Given the description of an element on the screen output the (x, y) to click on. 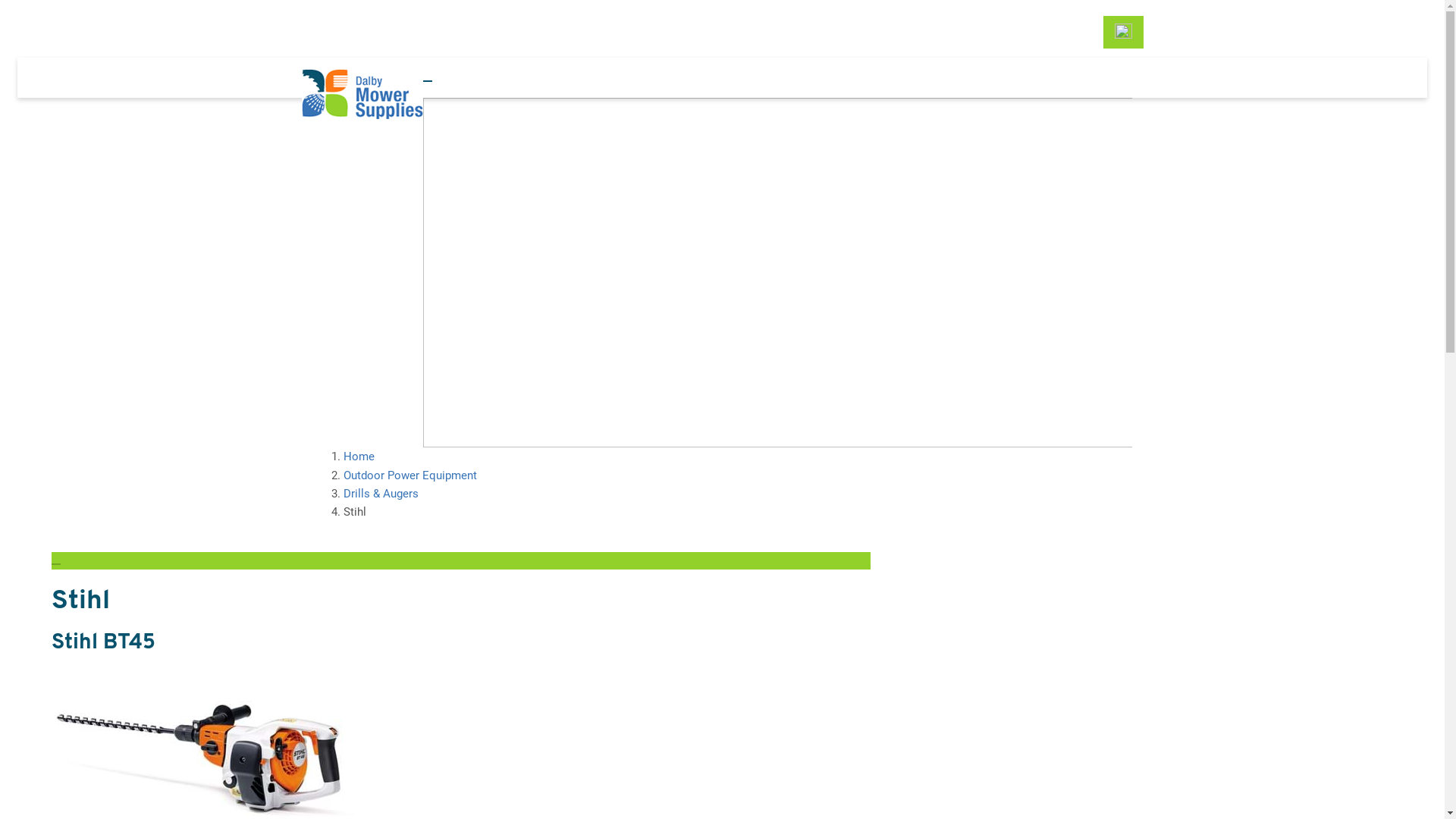
sales@dalbymowersupplies.com.au Element type: text (858, 31)
Drills & Augers Element type: text (379, 493)
07 4669 6885 Element type: text (1046, 31)
Home Element type: text (357, 456)
Outdoor Power Equipment Element type: text (409, 475)
ABOUT US Element type: text (683, 31)
Toggle navigation Element type: text (427, 80)
CONTACT US Element type: text (690, 49)
Stihl BT45 Element type: text (103, 642)
Toggle navigation Element type: text (55, 563)
